Given the description of an element on the screen output the (x, y) to click on. 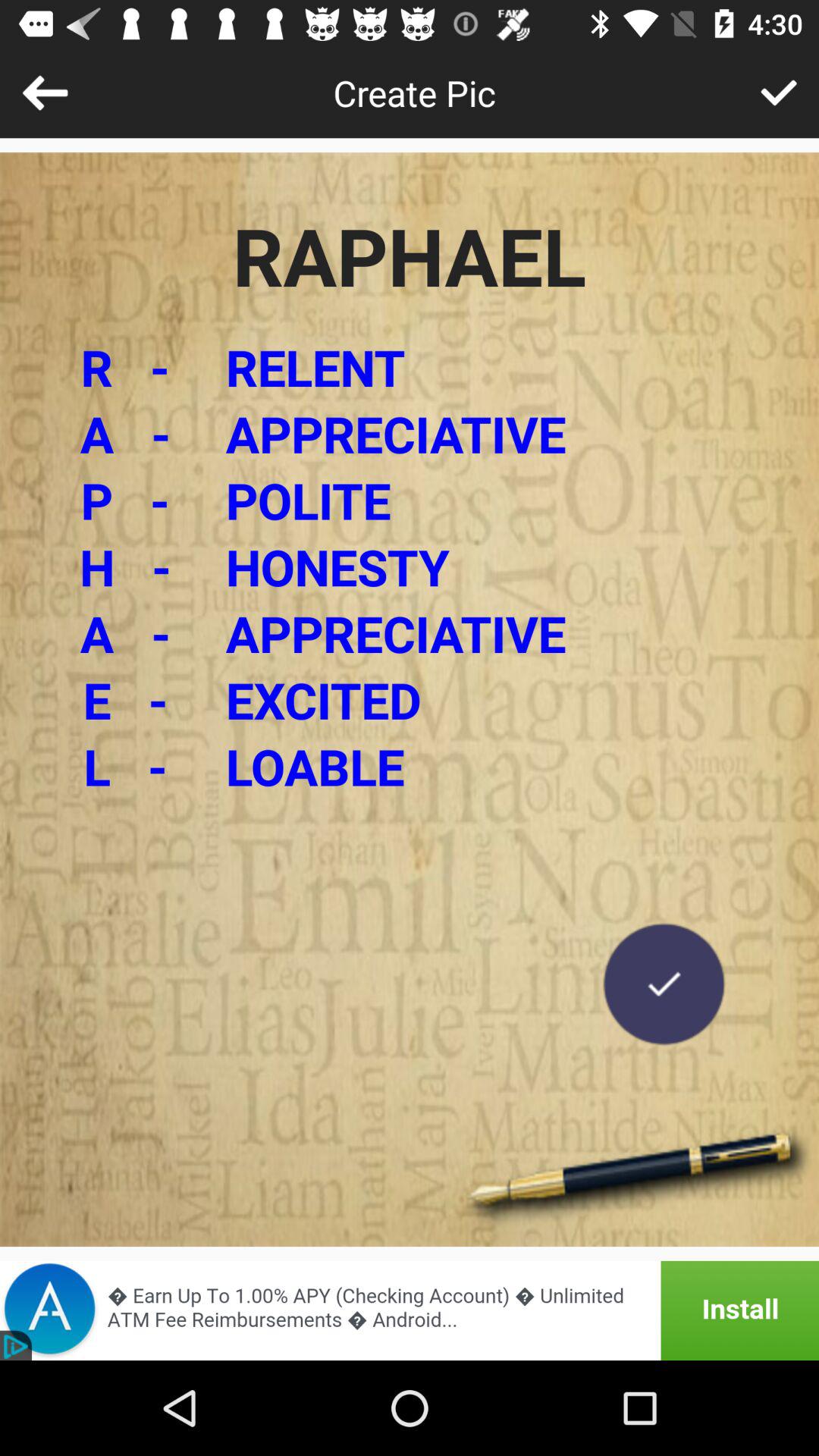
choose the dick option (778, 92)
